Given the description of an element on the screen output the (x, y) to click on. 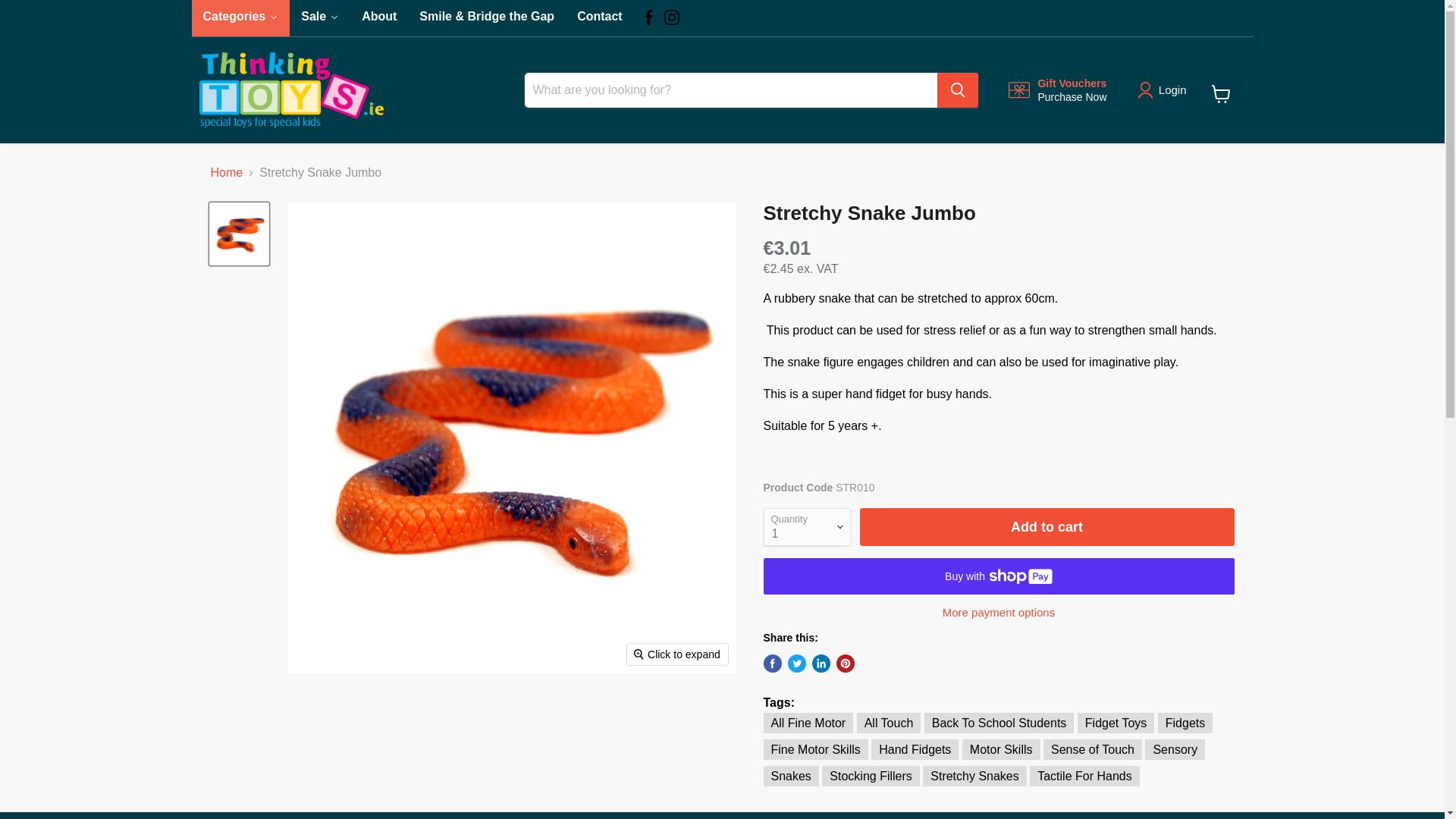
Sale (319, 18)
Categories (239, 18)
About (378, 18)
Contact (599, 18)
Sale (319, 18)
Click to expand (677, 654)
Login (1172, 90)
Categories (1057, 90)
View cart (239, 18)
Home (1221, 93)
Contact (227, 172)
About (599, 18)
